Given the description of an element on the screen output the (x, y) to click on. 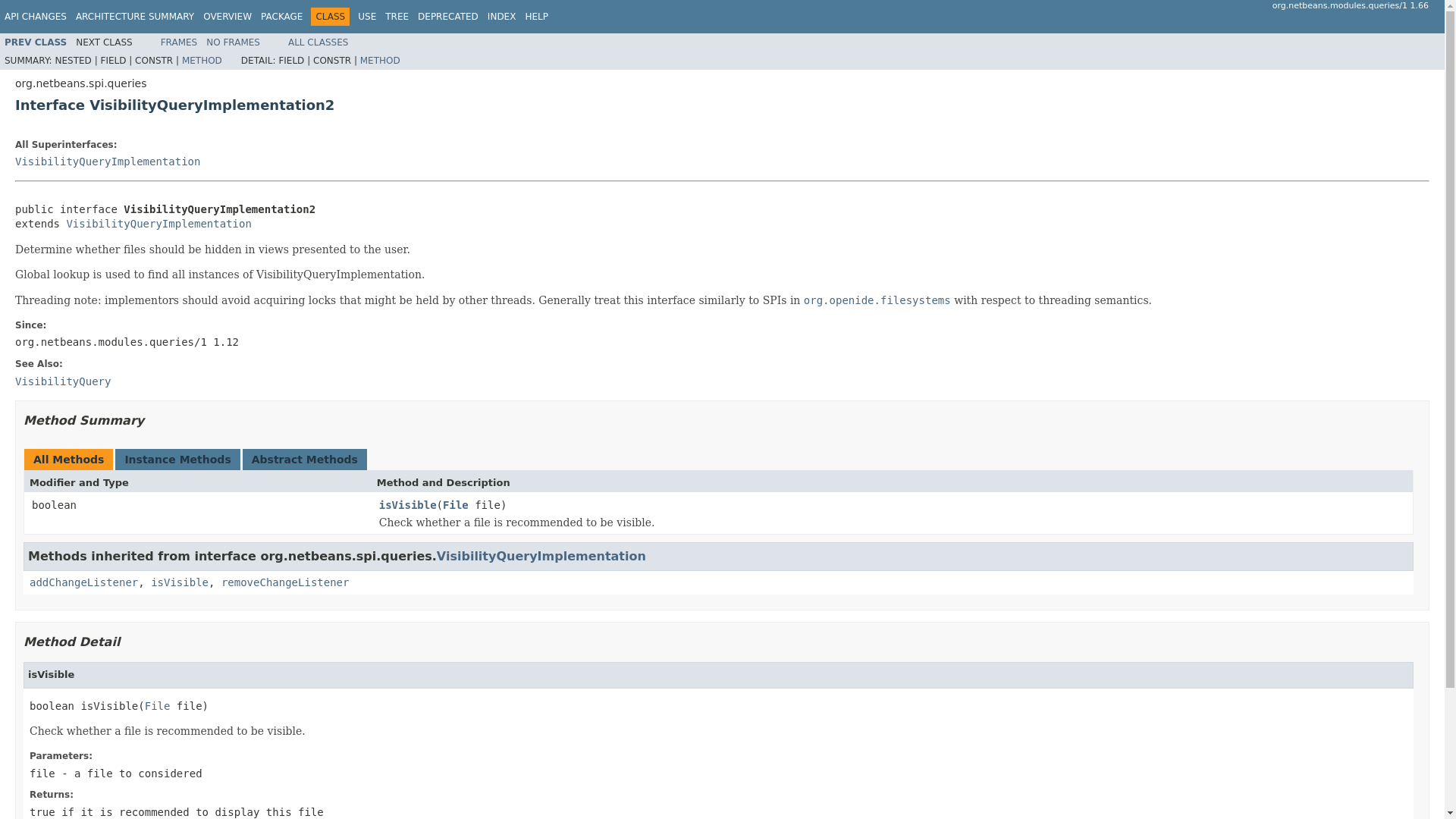
removeChangeListener (285, 582)
ARCHITECTURE SUMMARY (134, 16)
isVisible (179, 582)
DEPRECATED (448, 16)
Navigation (276, 16)
ALL CLASSES (317, 41)
File (157, 705)
interface in org.netbeans.spi.queries (107, 161)
METHOD (202, 60)
interface in org.netbeans.spi.queries (35, 41)
PACKAGE (281, 16)
File (455, 505)
NO FRAMES (233, 41)
INDEX (501, 16)
